Given the description of an element on the screen output the (x, y) to click on. 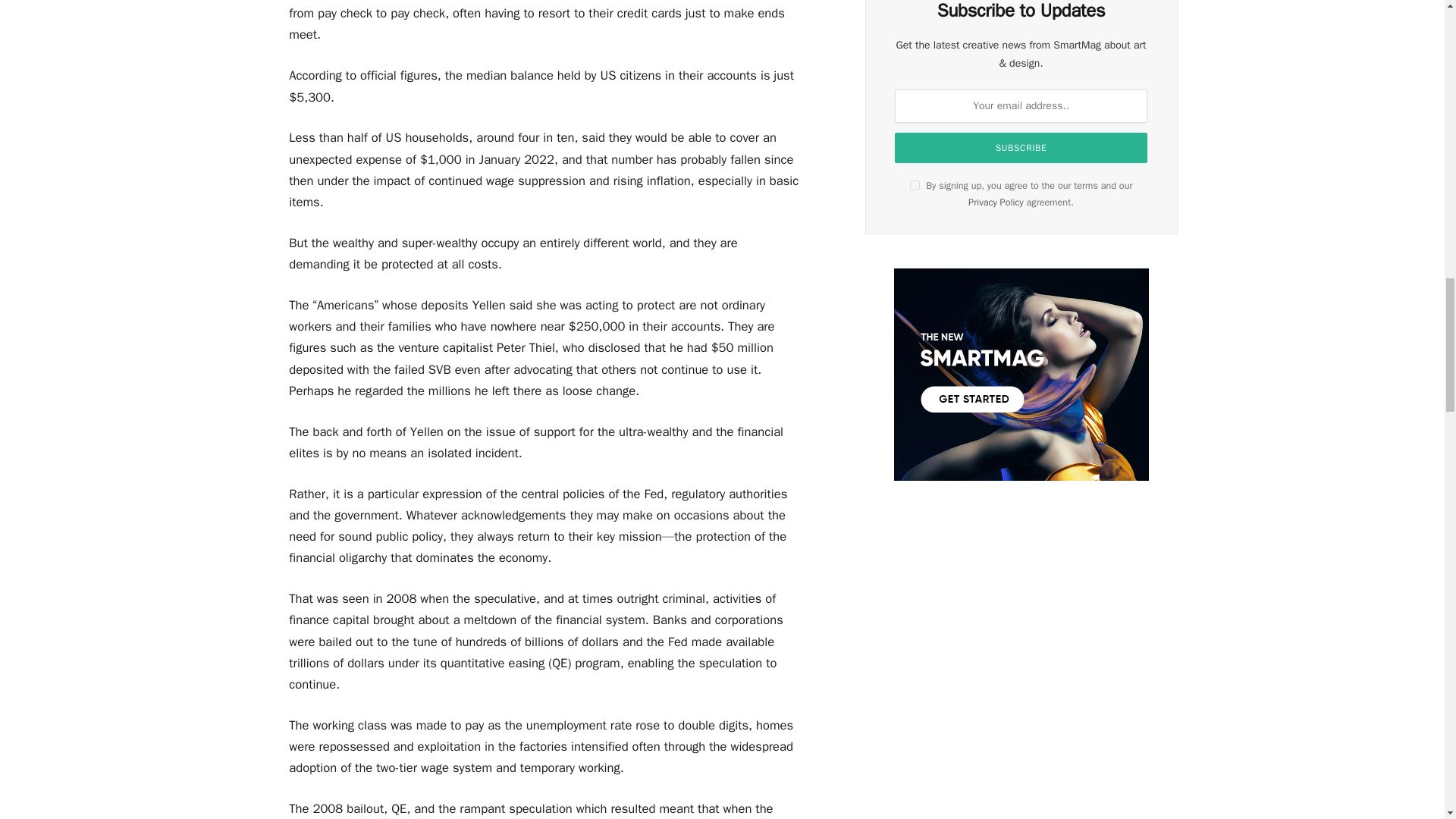
Subscribe (1021, 147)
on (915, 185)
